Given the description of an element on the screen output the (x, y) to click on. 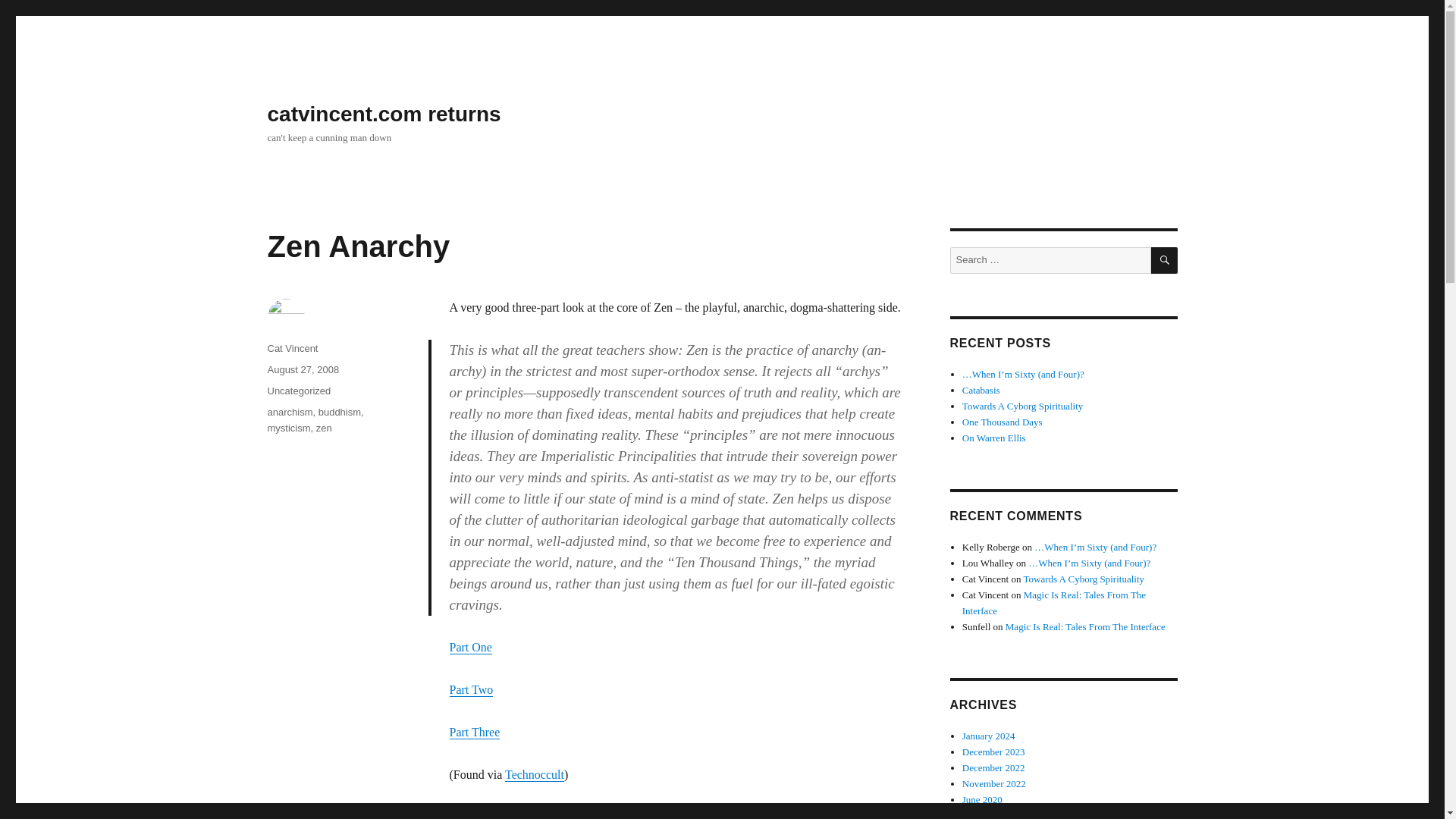
Part Three (473, 731)
Part One (470, 646)
anarchism (289, 411)
January 2024 (988, 736)
mysticism (288, 428)
SEARCH (1164, 260)
Towards A Cyborg Spirituality (1022, 405)
May 2020 (982, 814)
One Thousand Days (1002, 421)
Magic Is Real: Tales From The Interface (1086, 626)
